Given the description of an element on the screen output the (x, y) to click on. 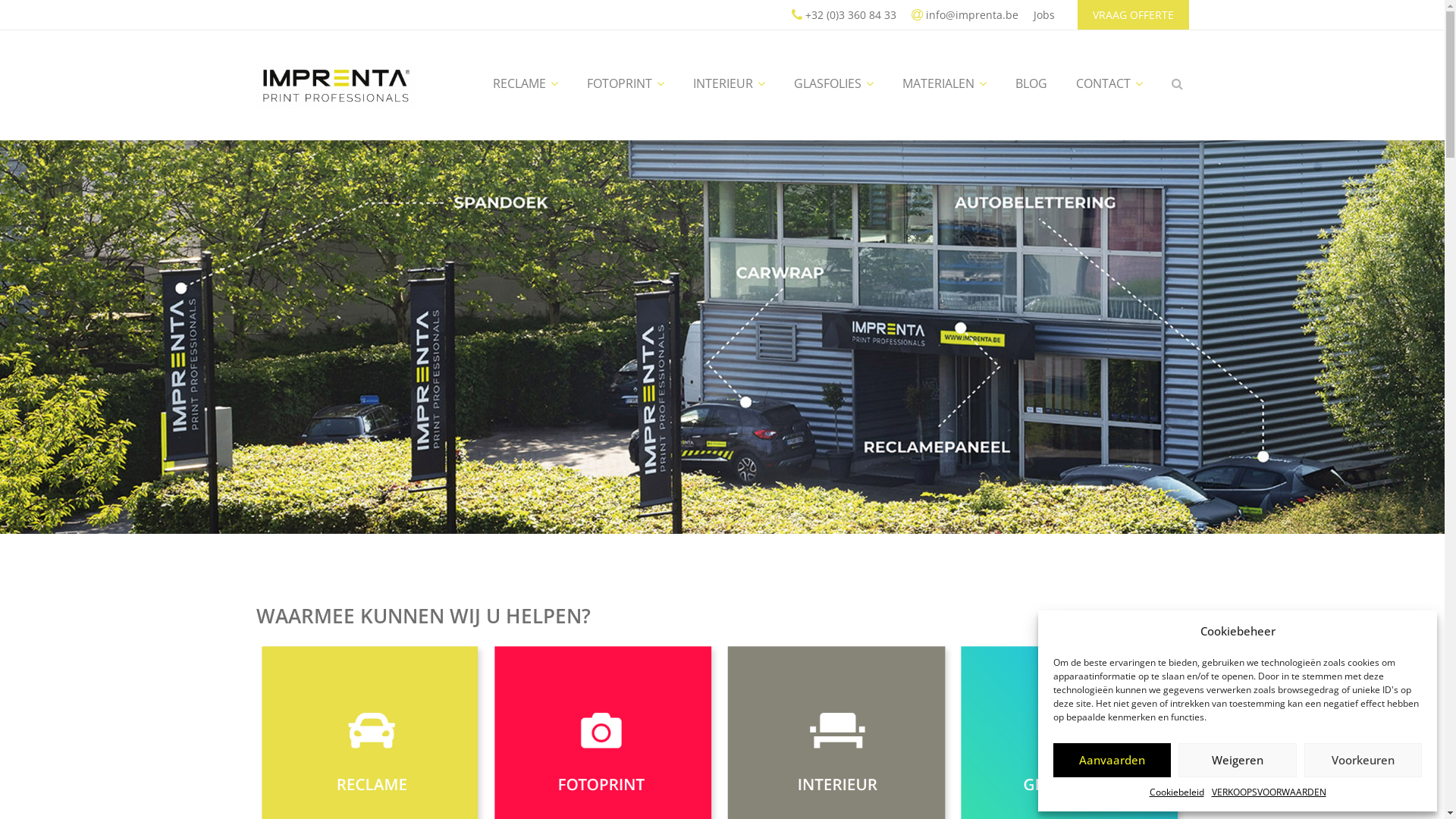
Weigeren Element type: text (1236, 760)
BLOG Element type: text (1030, 83)
Voorkeuren Element type: text (1362, 760)
VRAAG OFFERTE Element type: text (1132, 14)
CONTACT Element type: text (1108, 83)
INTERIEUR Element type: text (729, 83)
IMPRENTA Element type: hover (335, 85)
+32 (0)3 360 84 33 Element type: text (843, 14)
Jobs Element type: text (1043, 14)
FOTOPRINT Element type: text (625, 83)
Aanvaarden Element type: text (1111, 760)
info@imprenta.be Element type: text (964, 14)
RECLAME Element type: text (525, 83)
MATERIALEN Element type: text (944, 83)
Cookiebeleid Element type: text (1176, 792)
VERKOOPSVOORWAARDEN Element type: text (1268, 792)
GLASFOLIES Element type: text (832, 83)
